Given the description of an element on the screen output the (x, y) to click on. 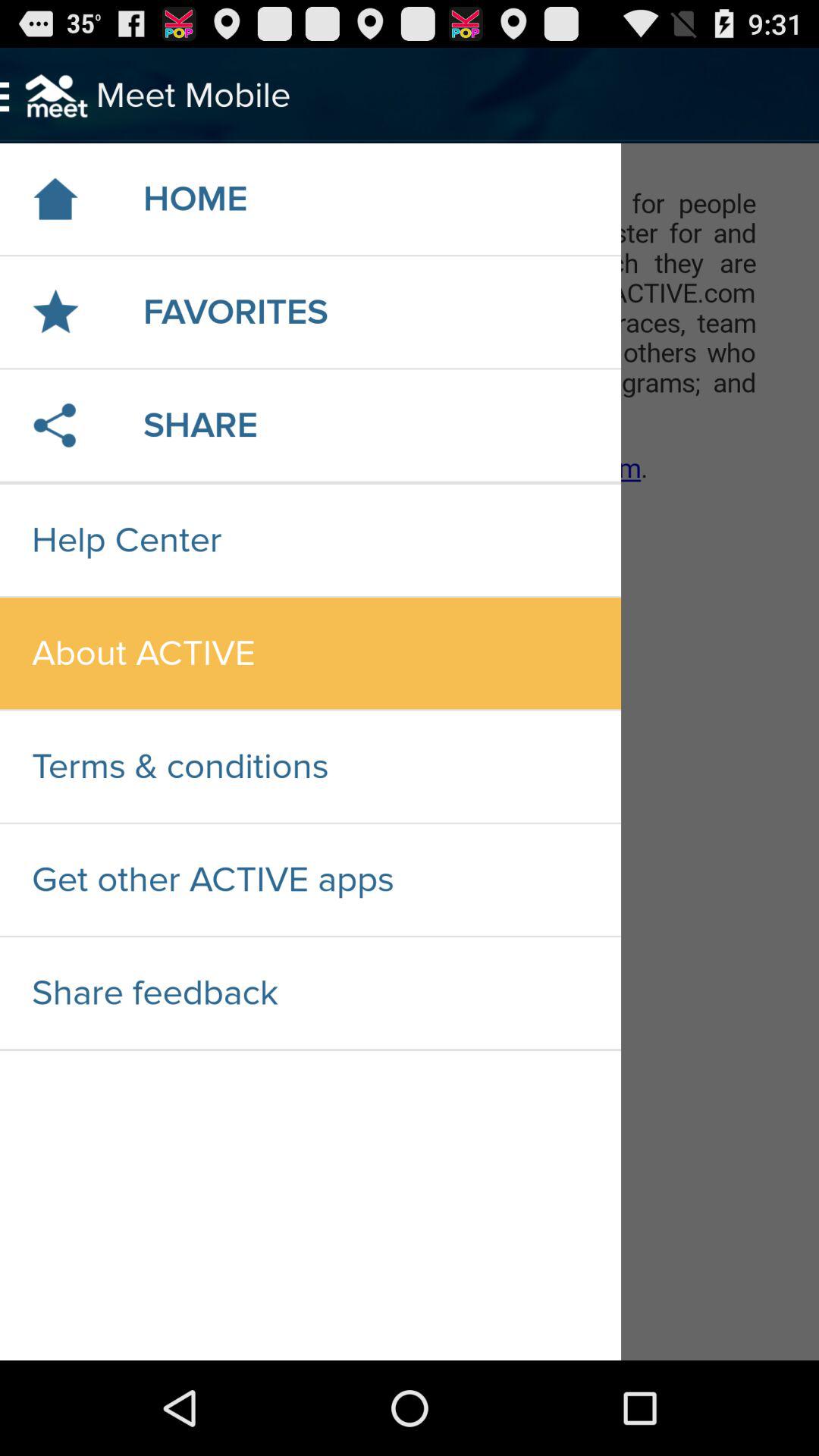
open the help center icon (310, 540)
